Given the description of an element on the screen output the (x, y) to click on. 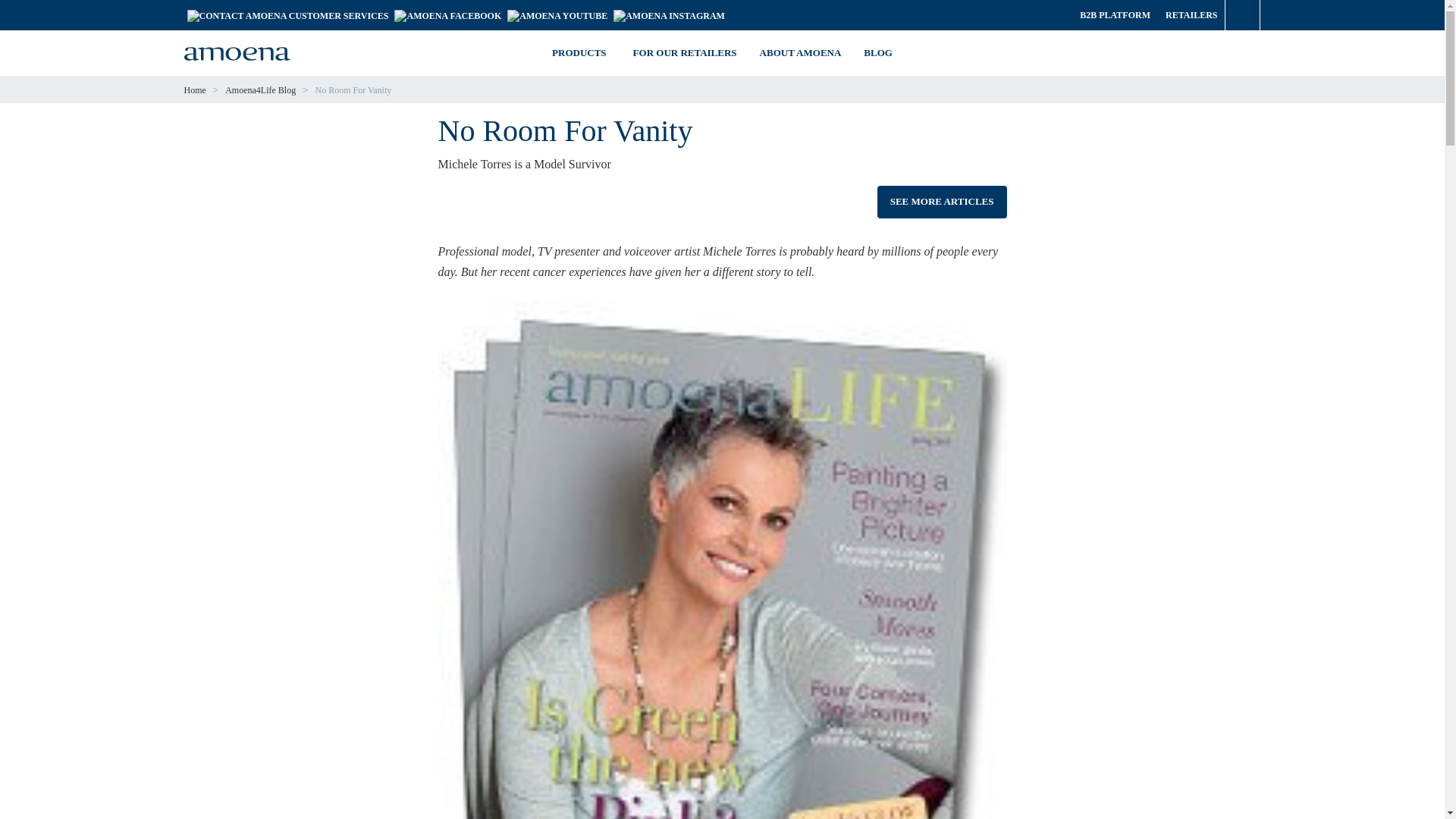
Amoena Norge - YouTube (556, 14)
Amoena Scandinavia (669, 14)
Retailers (1190, 14)
B2B PLATFORM (1114, 14)
Amoena Norge (447, 14)
Amoena (236, 53)
RETAILERS (1190, 14)
Amoena Product Groups (580, 53)
B2B Platform (1114, 14)
PRODUCTS (580, 53)
